Given the description of an element on the screen output the (x, y) to click on. 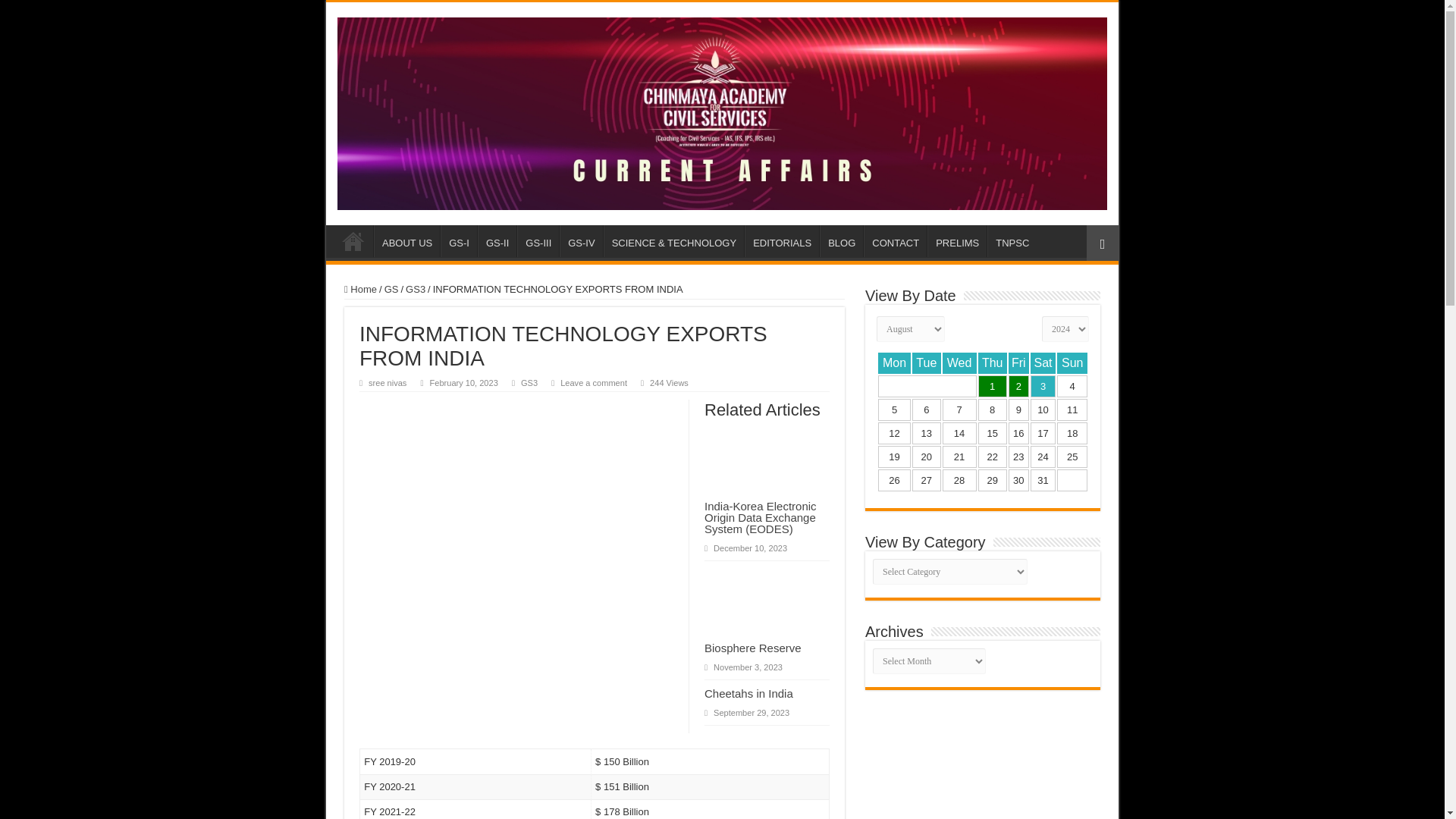
GS (391, 288)
Wednesday (959, 362)
Leave a comment (593, 382)
Home (360, 288)
Cheetahs in India (748, 693)
GS3 (415, 288)
Friday (1019, 362)
Random Article (1102, 243)
HOME (352, 241)
Saturday (1043, 362)
